Given the description of an element on the screen output the (x, y) to click on. 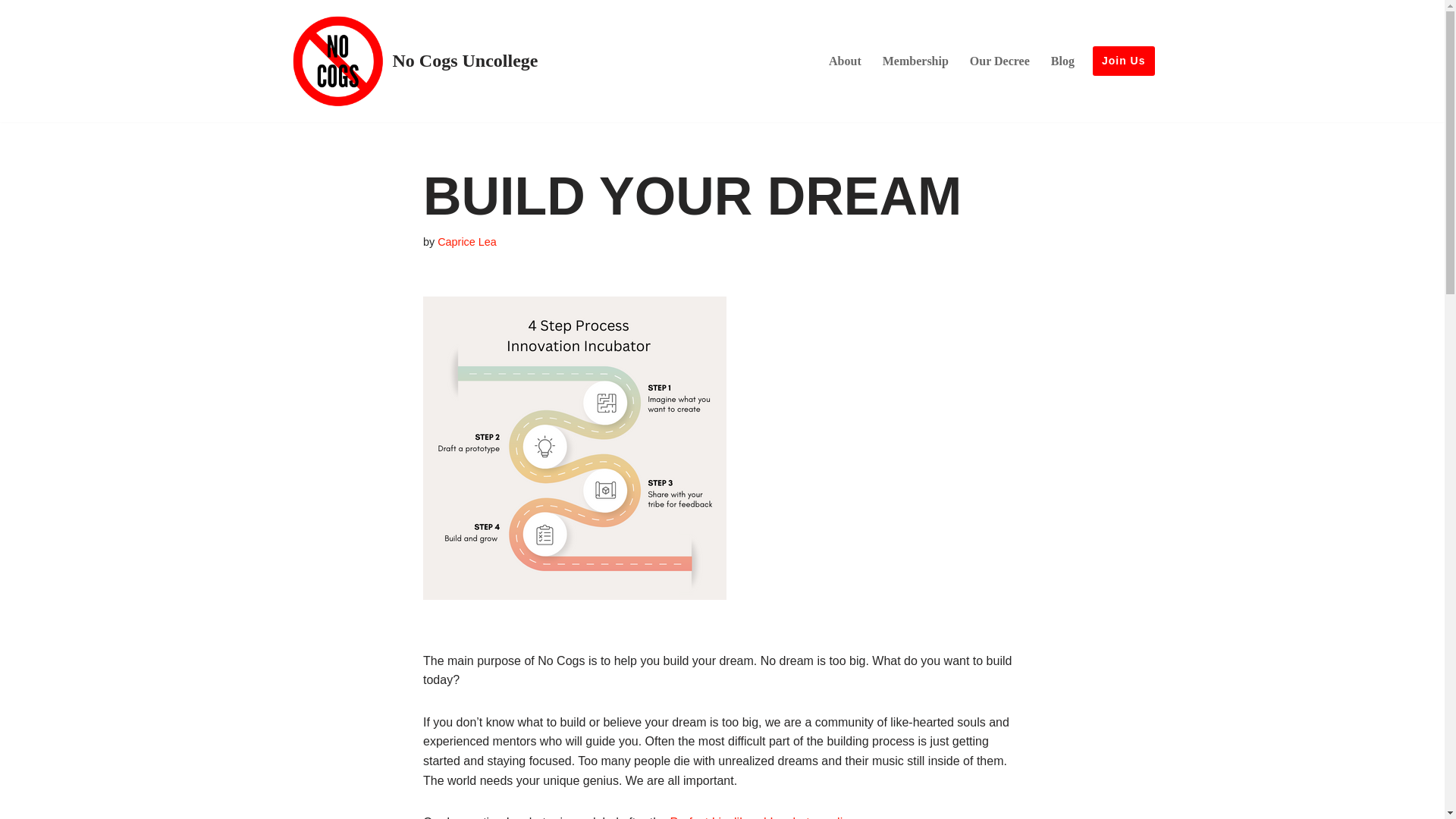
About (844, 60)
Our Decree (999, 60)
Perfect Livelihood Incubator online course (782, 817)
Skip to content (11, 31)
Caprice Lea (467, 241)
Blog (1062, 60)
Posts by Caprice Lea (467, 241)
Membership (915, 60)
Join Us (1123, 60)
No Cogs Uncollege (413, 60)
